Given the description of an element on the screen output the (x, y) to click on. 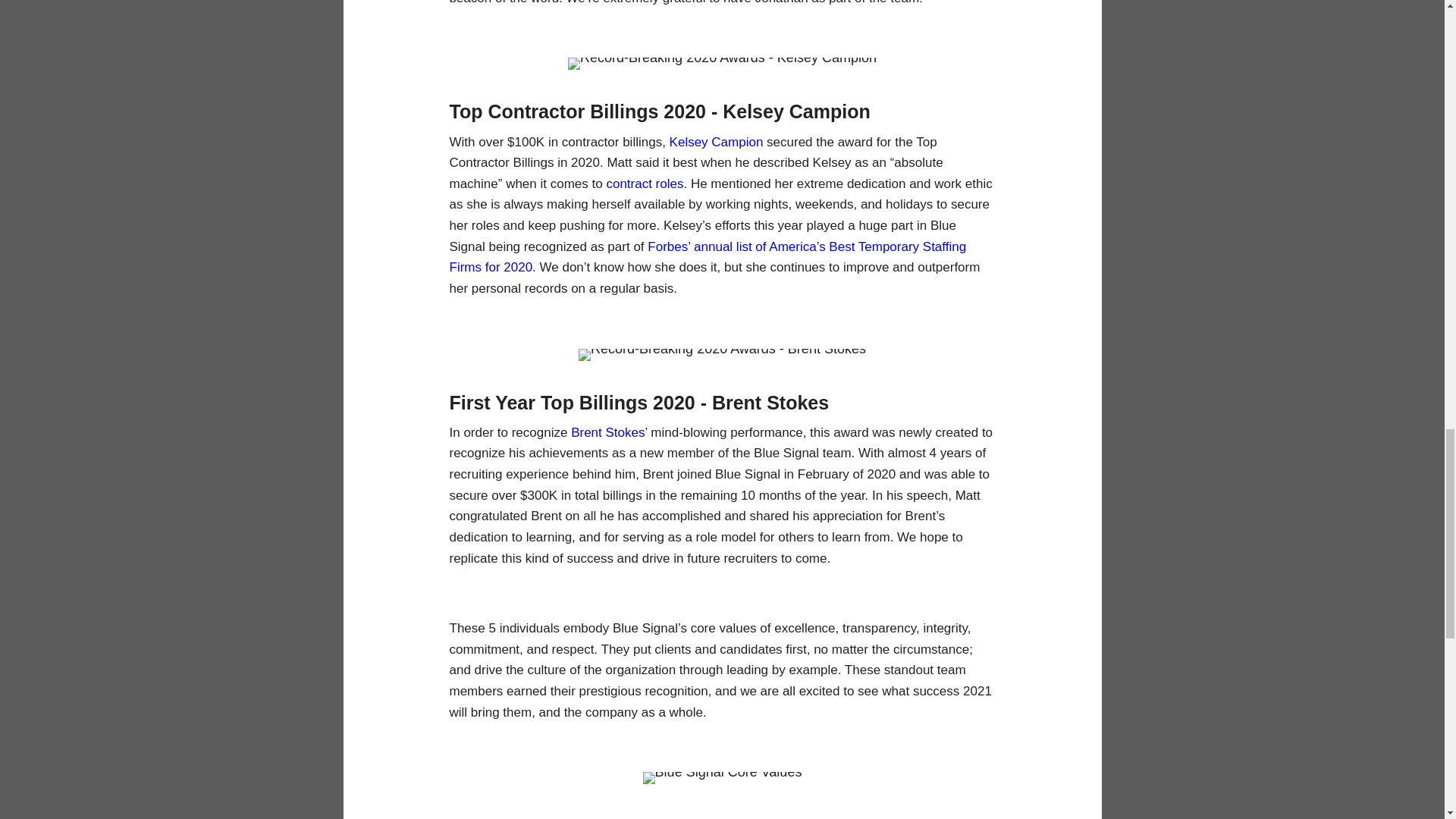
BSS Horizontal Core Values (722, 777)
Awards Blog - Brent (722, 354)
Awards Blog - Kelsey (721, 63)
